Given the description of an element on the screen output the (x, y) to click on. 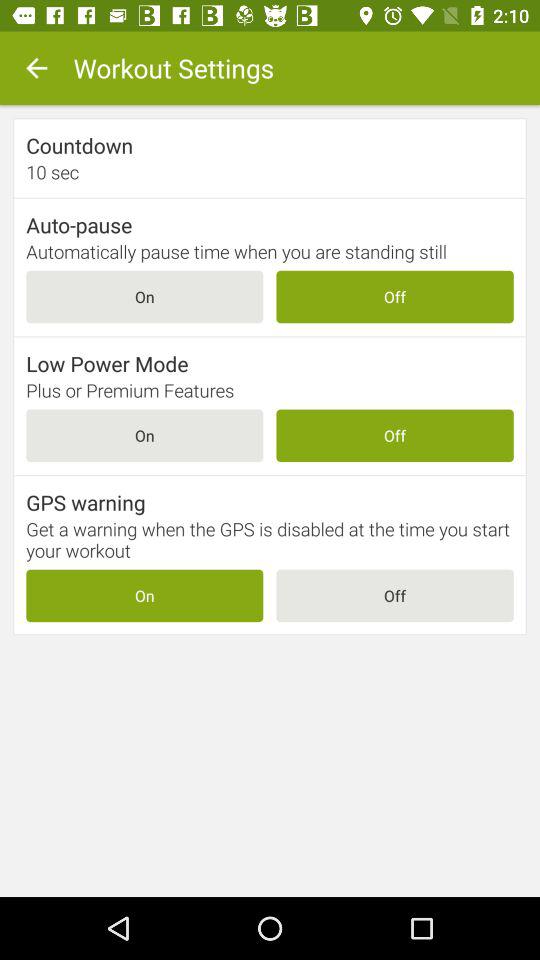
select the item above the countdown item (36, 68)
